Given the description of an element on the screen output the (x, y) to click on. 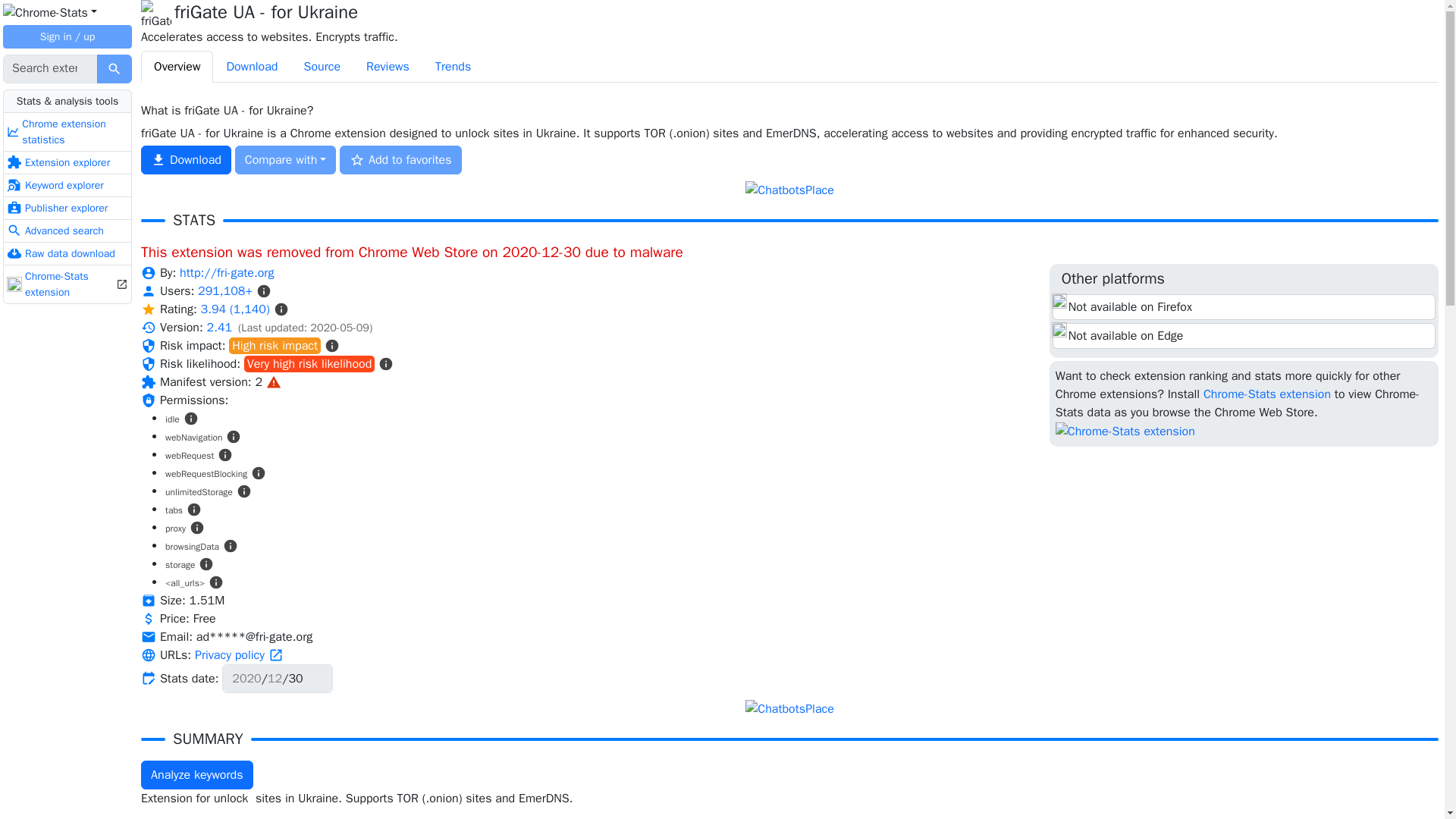
Publisher explorer (67, 208)
High risk impact (274, 345)
2020-12-30 (277, 678)
Trends (452, 66)
Chrome-Stats extension (1267, 394)
Chrome-Stats extension (67, 284)
Raw data download (67, 253)
Download (250, 66)
Privacy policy (239, 654)
Compare with (285, 159)
Analyze keywords (196, 774)
Extension explorer (67, 162)
Source (321, 66)
Reviews (387, 66)
Chrome extension statistics (67, 132)
